Given the description of an element on the screen output the (x, y) to click on. 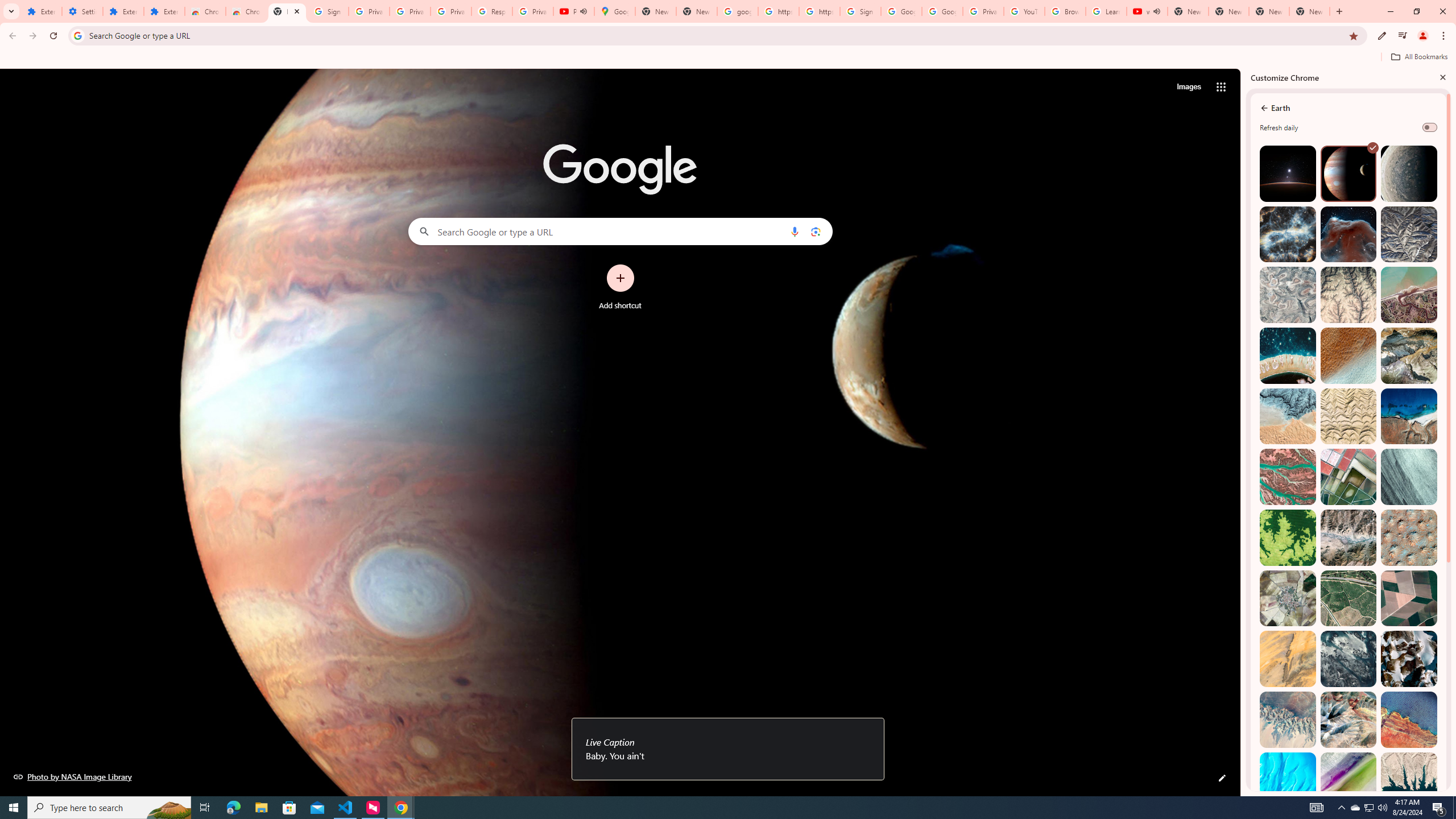
Ouargla, Algeria (1408, 537)
New Tab (1309, 11)
Libya (1408, 719)
Trarza, Mauritania (1348, 355)
Photo by NASA Image Library (72, 776)
Kelan, Shanxi, China (1408, 233)
Aigues-Mortes, France (1348, 476)
Search Google or type a URL (619, 230)
Google Maps (614, 11)
Hardap, Namibia (1287, 416)
Hainan, China (1408, 780)
